Given the description of an element on the screen output the (x, y) to click on. 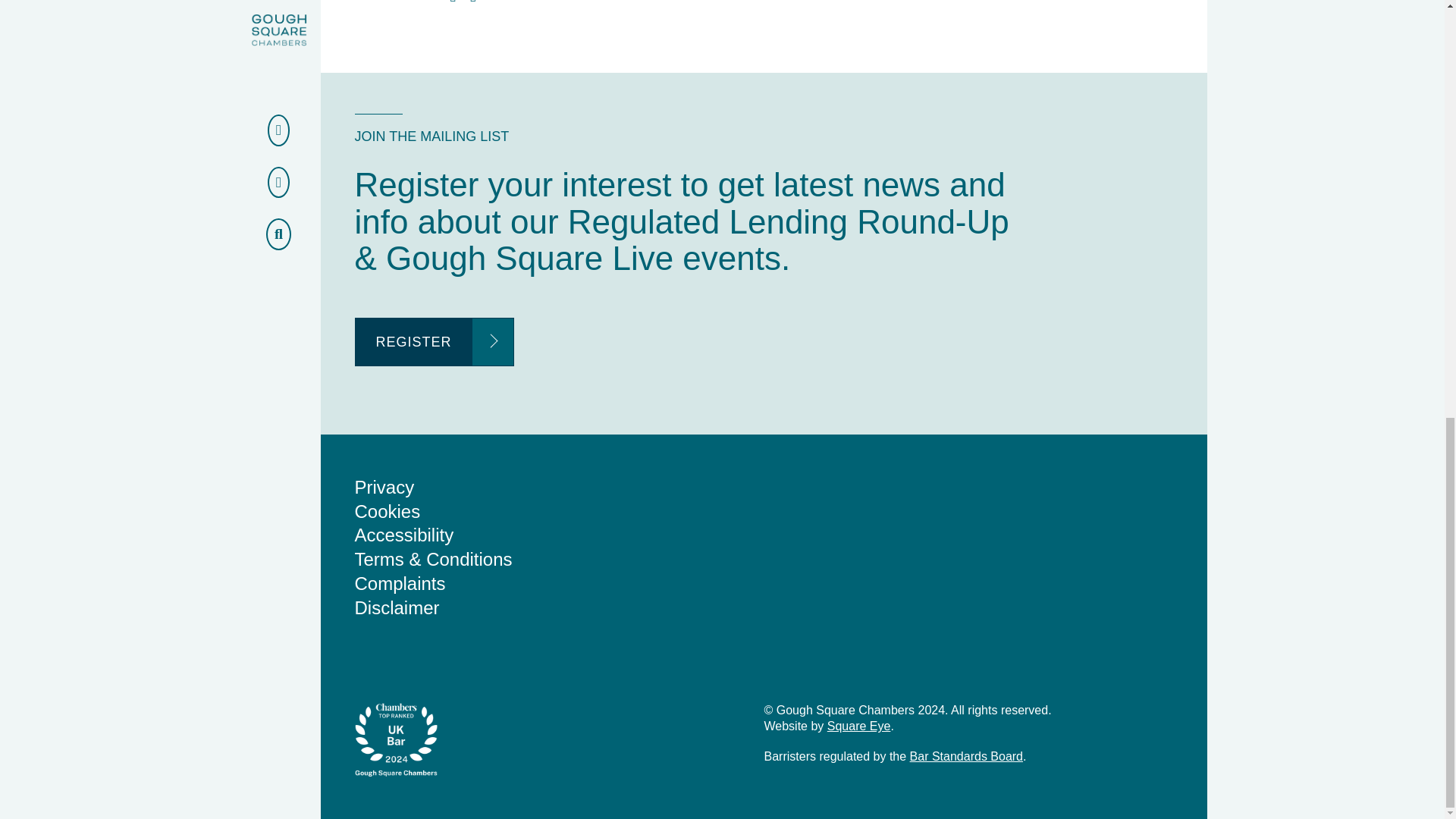
Square Eye (859, 725)
Share on LinkedIn (473, 2)
Tweet this (453, 2)
